Given the description of an element on the screen output the (x, y) to click on. 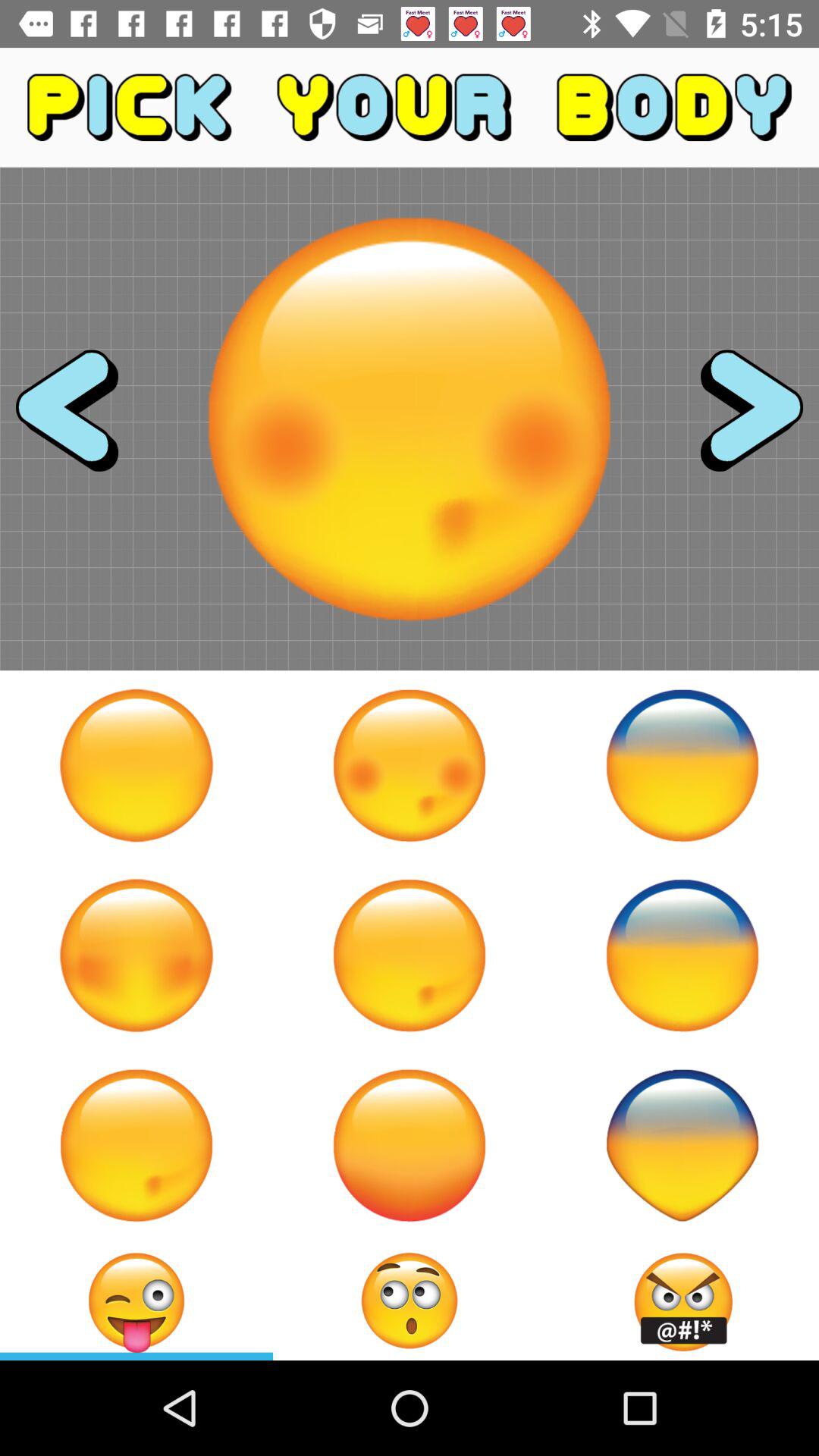
pick this shape emoji (682, 1145)
